Given the description of an element on the screen output the (x, y) to click on. 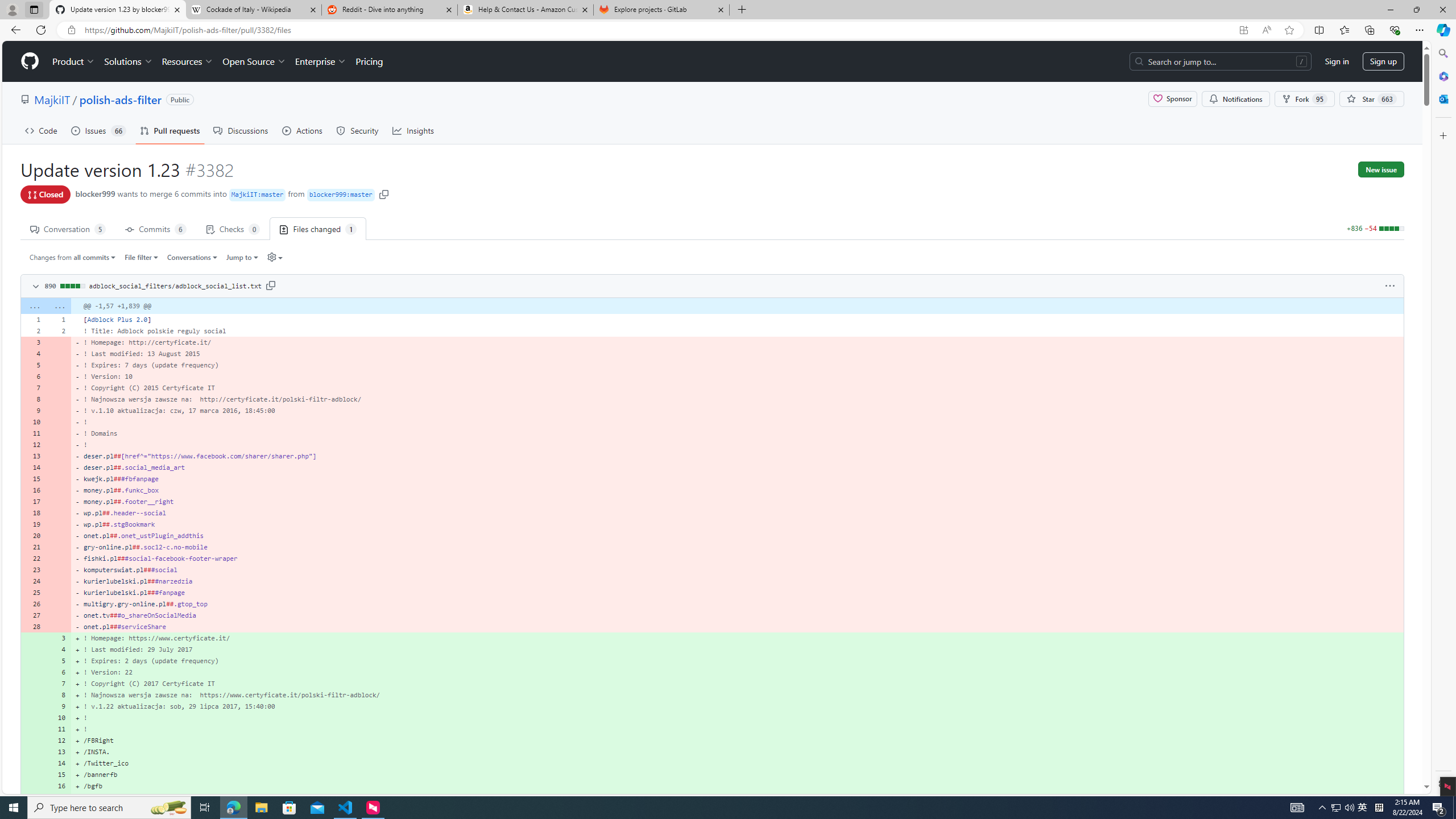
Insights (413, 130)
 Conversation 5 (68, 228)
@@ -1,57 +1,839 @@ (737, 305)
Reddit - Dive into anything (390, 9)
Sign in (1336, 61)
22 (33, 558)
Copy (270, 284)
polish-ads-filter (119, 99)
- kwejk.pl###fbfanpage (737, 478)
+ /btnartwrzuta  (737, 797)
MajkiIT : master (257, 195)
- kurierlubelski.pl###narzedzia (737, 581)
26 (33, 603)
